Given the description of an element on the screen output the (x, y) to click on. 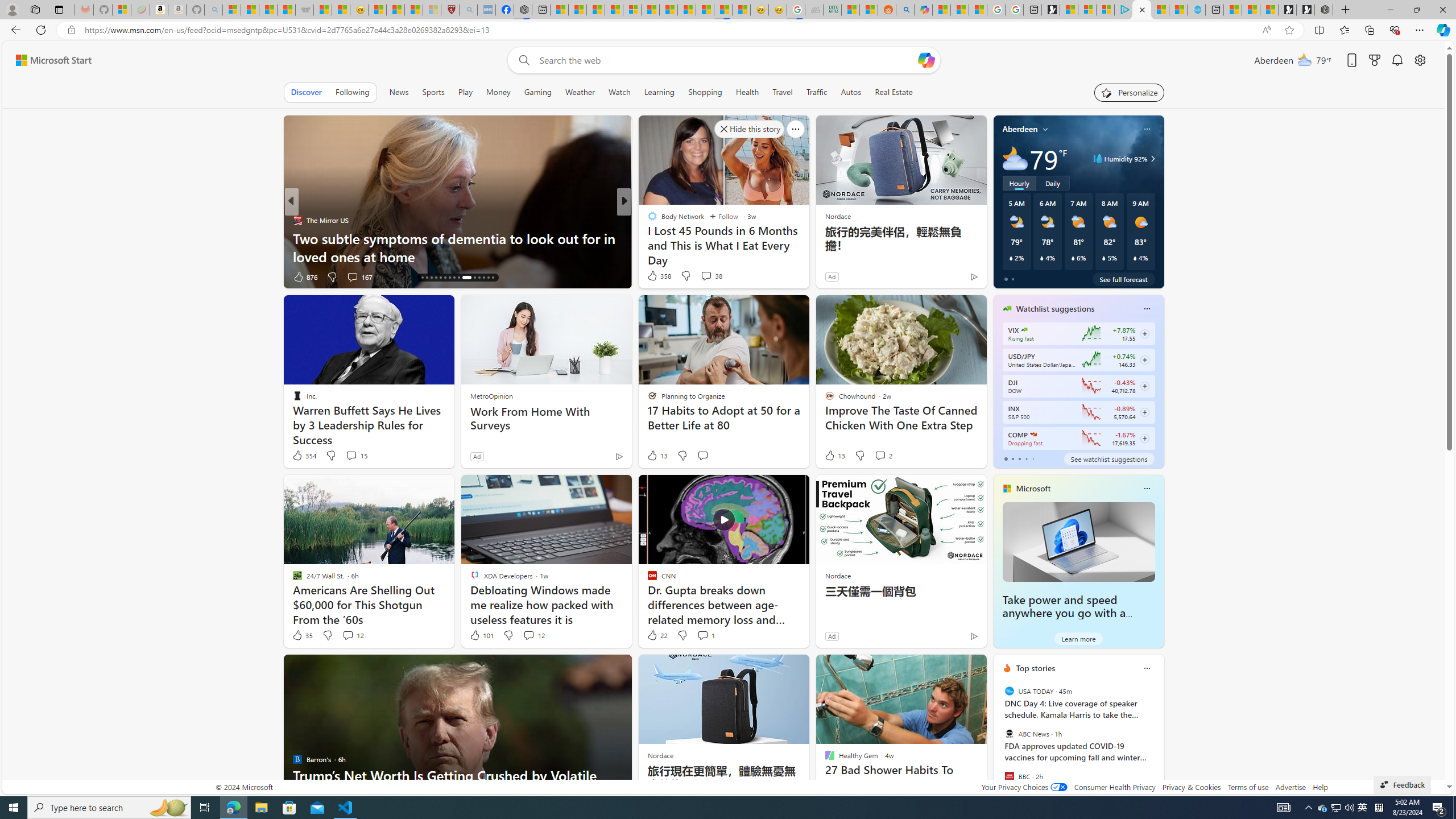
Workspaces (34, 9)
DITOGAMES AG Imprint (831, 9)
Consumer Health Privacy (1115, 786)
Watch (619, 92)
View comments 38 Comment (705, 275)
Stocks - MSN (285, 9)
Microsoft rewards (1374, 60)
Skip to footer (46, 59)
